Given the description of an element on the screen output the (x, y) to click on. 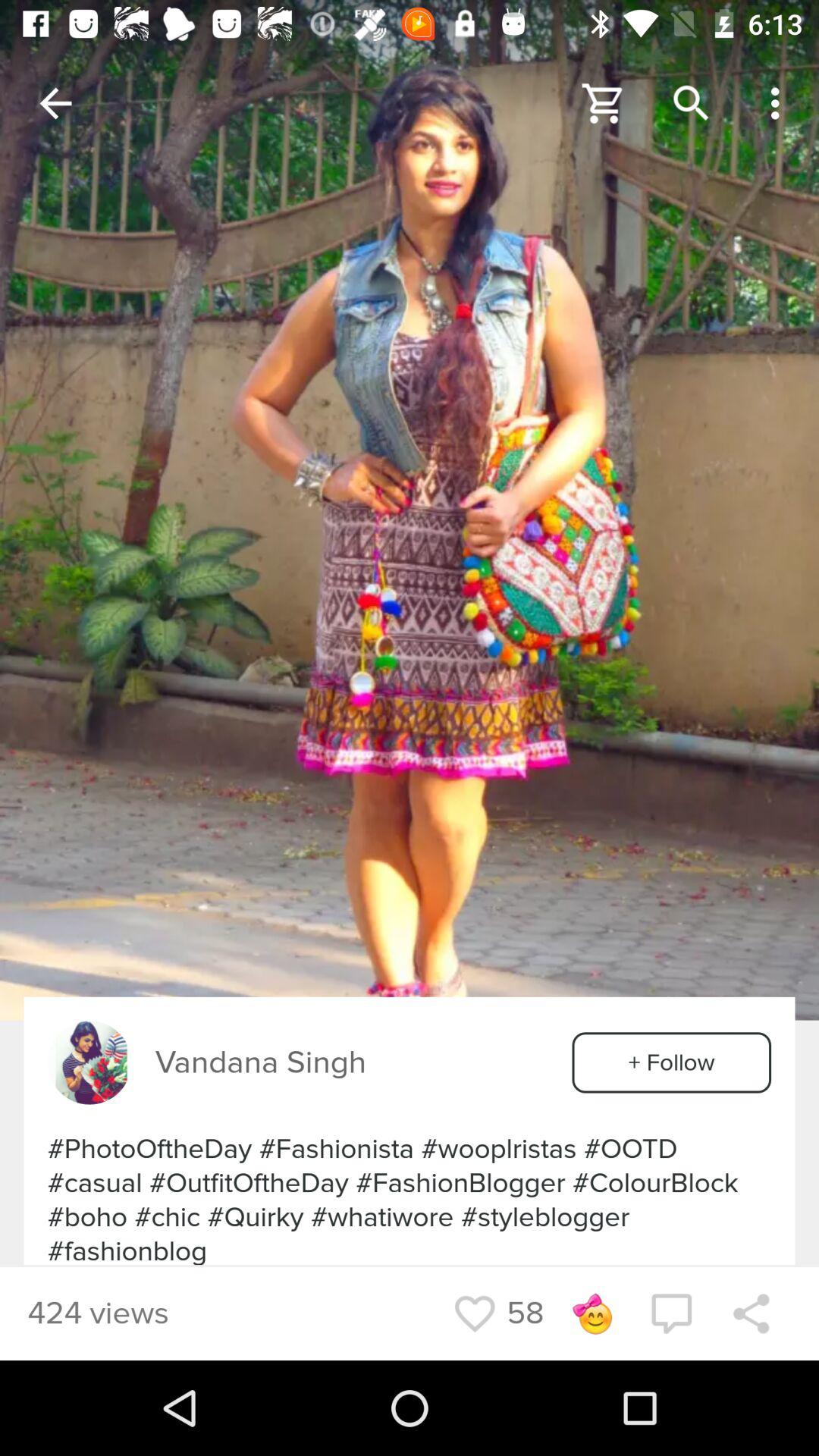
emoji (591, 1313)
